Given the description of an element on the screen output the (x, y) to click on. 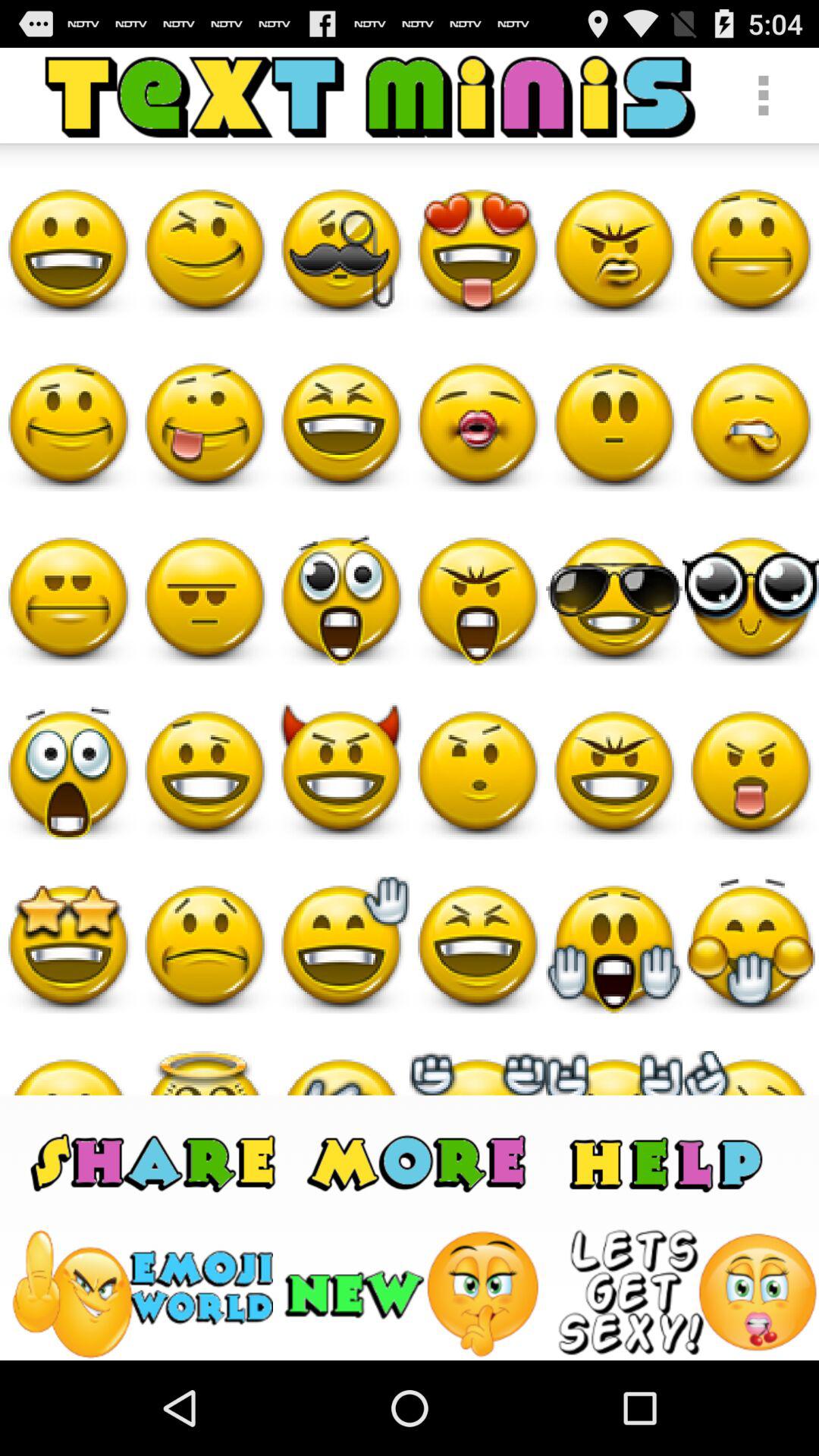
get help (665, 1161)
